Given the description of an element on the screen output the (x, y) to click on. 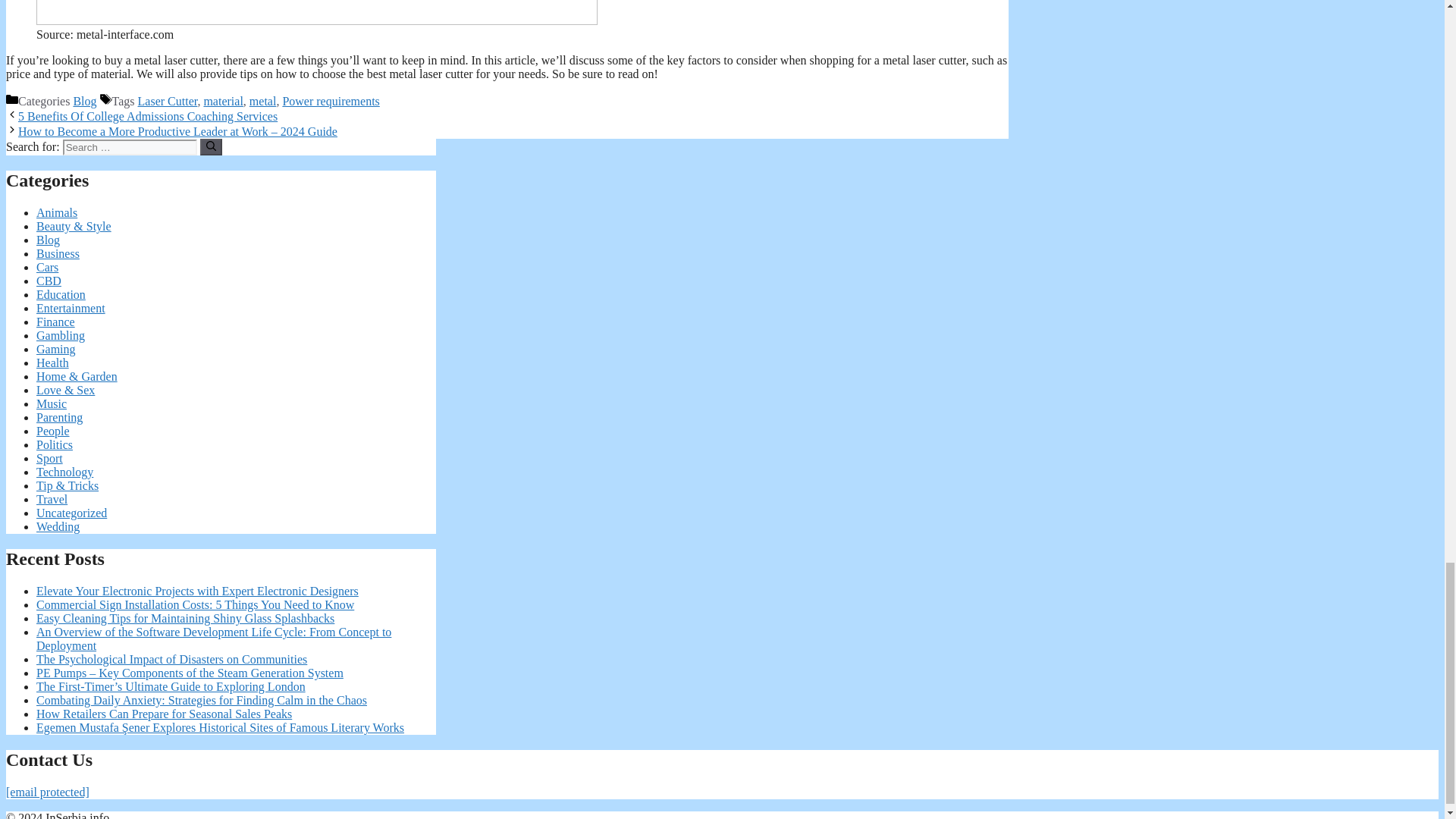
Blog (47, 239)
Entertainment (70, 308)
Finance (55, 321)
Business (58, 253)
5 Benefits Of College Admissions Coaching Services (147, 115)
CBD (48, 280)
metal (262, 101)
Blog (84, 101)
material (223, 101)
Gambling (60, 335)
Laser Cutter (168, 101)
Health (52, 362)
Gaming (55, 349)
Power requirements (330, 101)
Animals (56, 212)
